Given the description of an element on the screen output the (x, y) to click on. 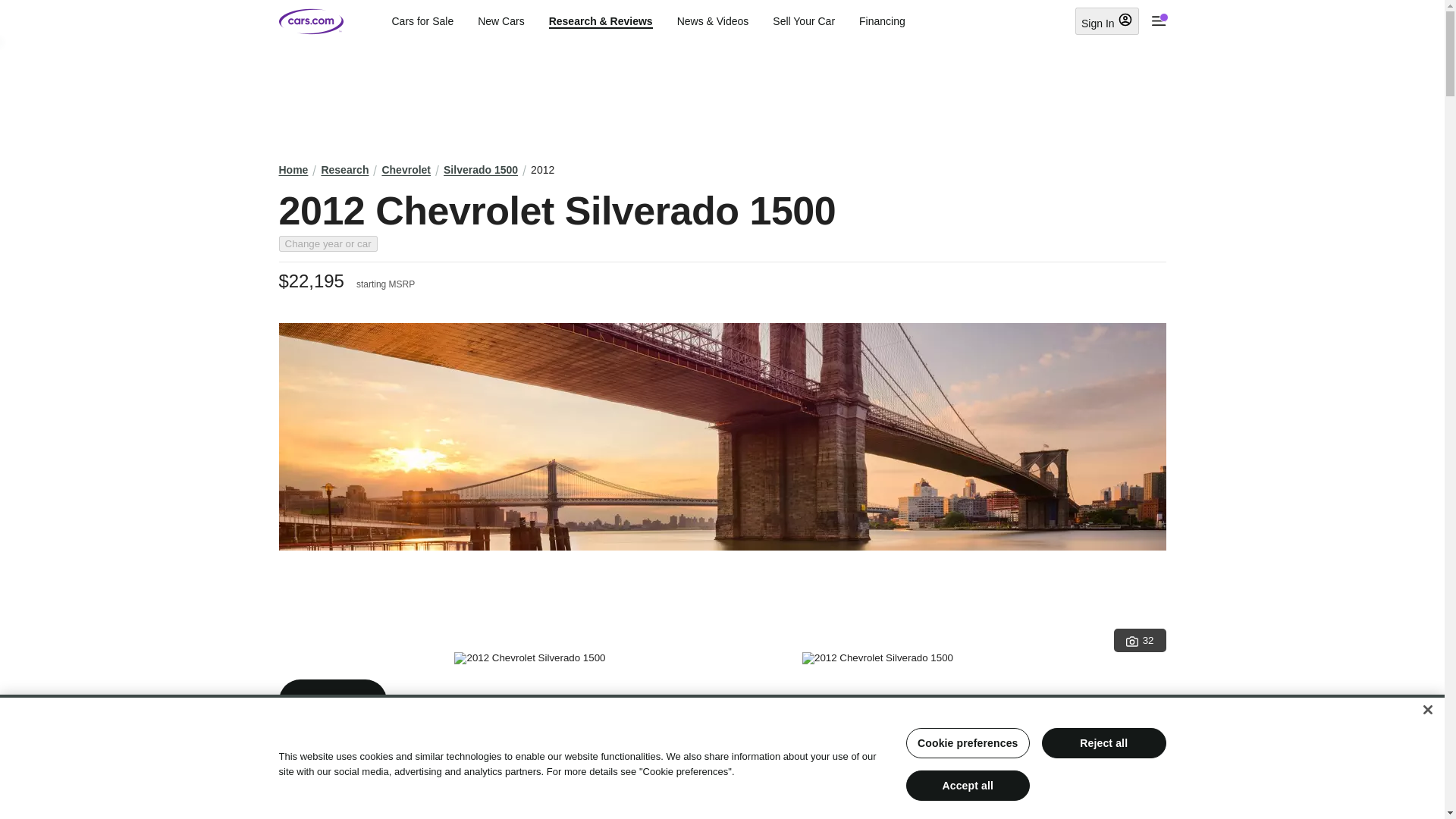
Shop Now (333, 700)
Sell Your Car (803, 21)
Financing (882, 21)
Silverado 1500 (481, 170)
Skip to main content (12, 11)
New Cars (500, 21)
Chevrolet (405, 170)
Research (344, 170)
Home (293, 170)
